Given the description of an element on the screen output the (x, y) to click on. 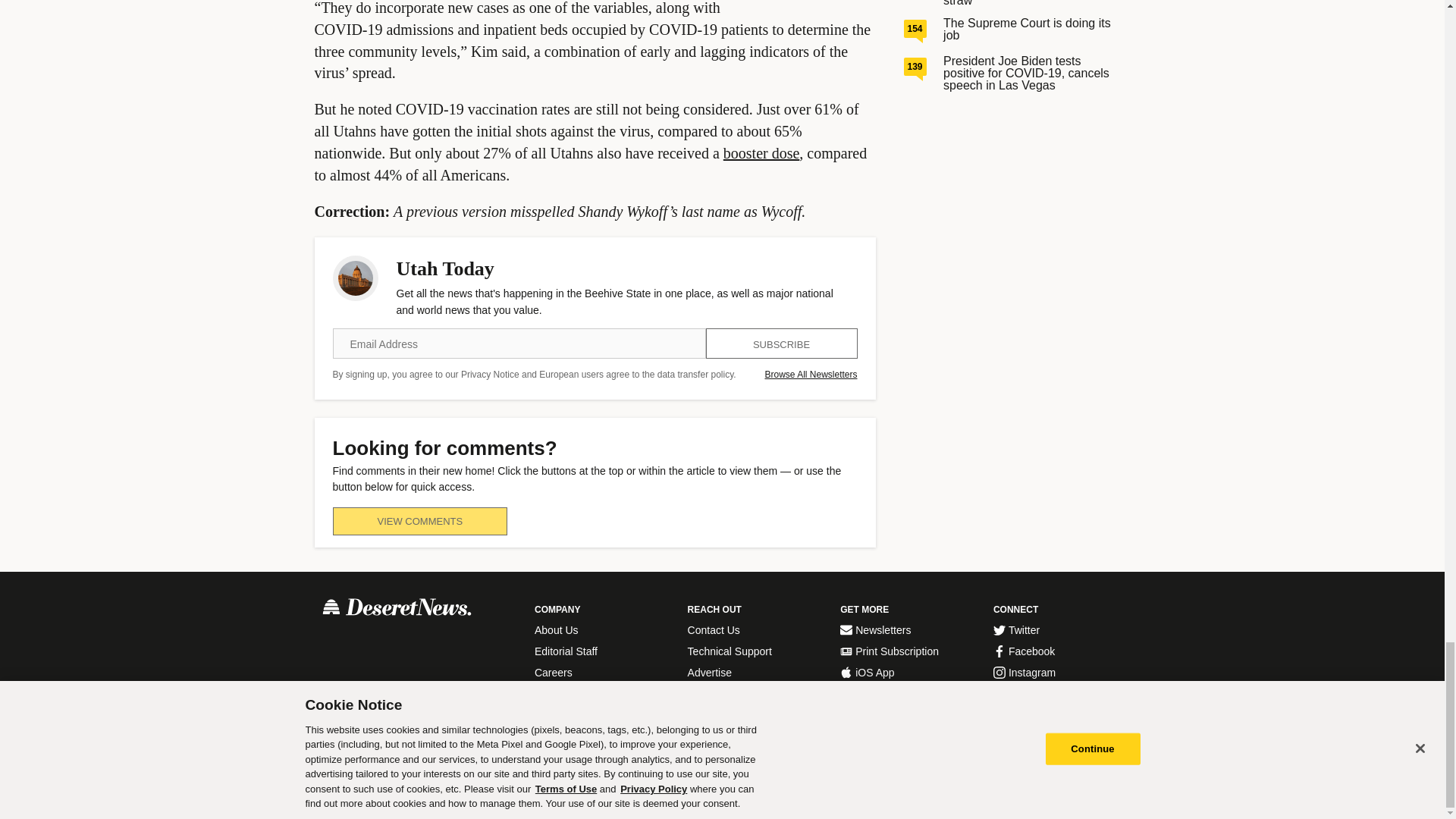
SUBSCRIBE (780, 343)
booster dose (761, 152)
